Given the description of an element on the screen output the (x, y) to click on. 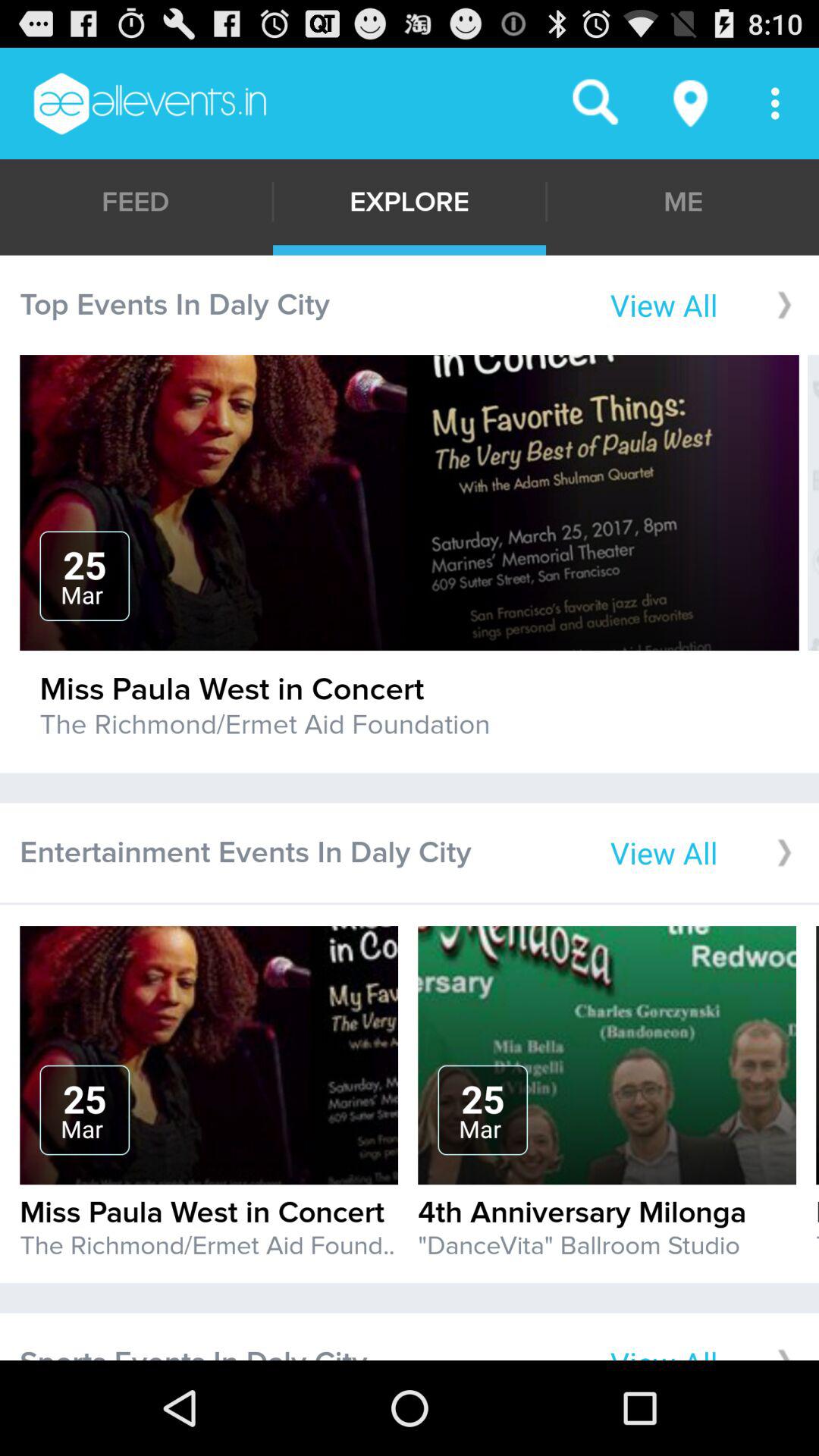
click the image below top events in daly city (409, 502)
click on explore  left next to  me (409, 201)
